Given the description of an element on the screen output the (x, y) to click on. 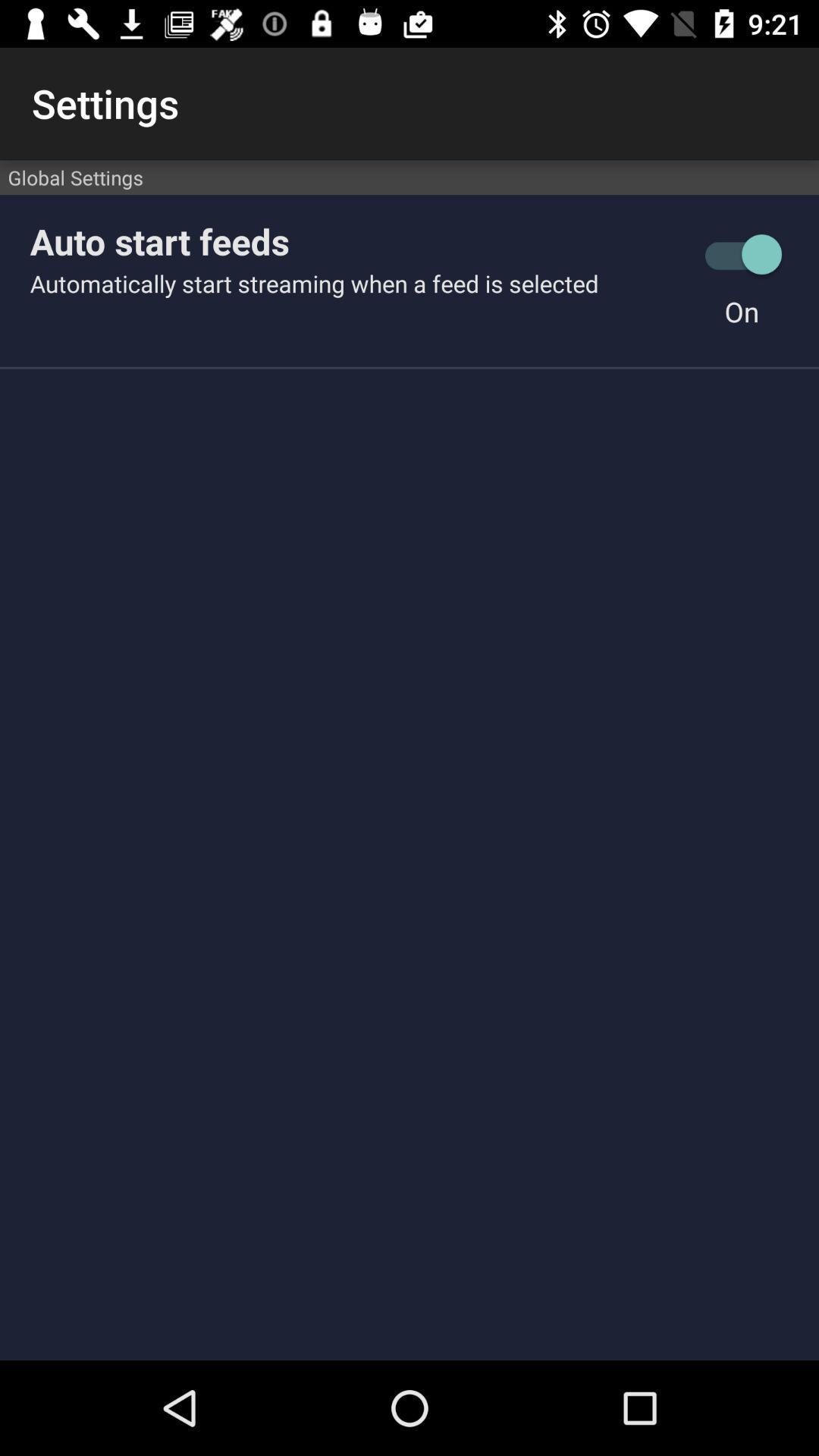
jump until auto start feeds icon (357, 241)
